Given the description of an element on the screen output the (x, y) to click on. 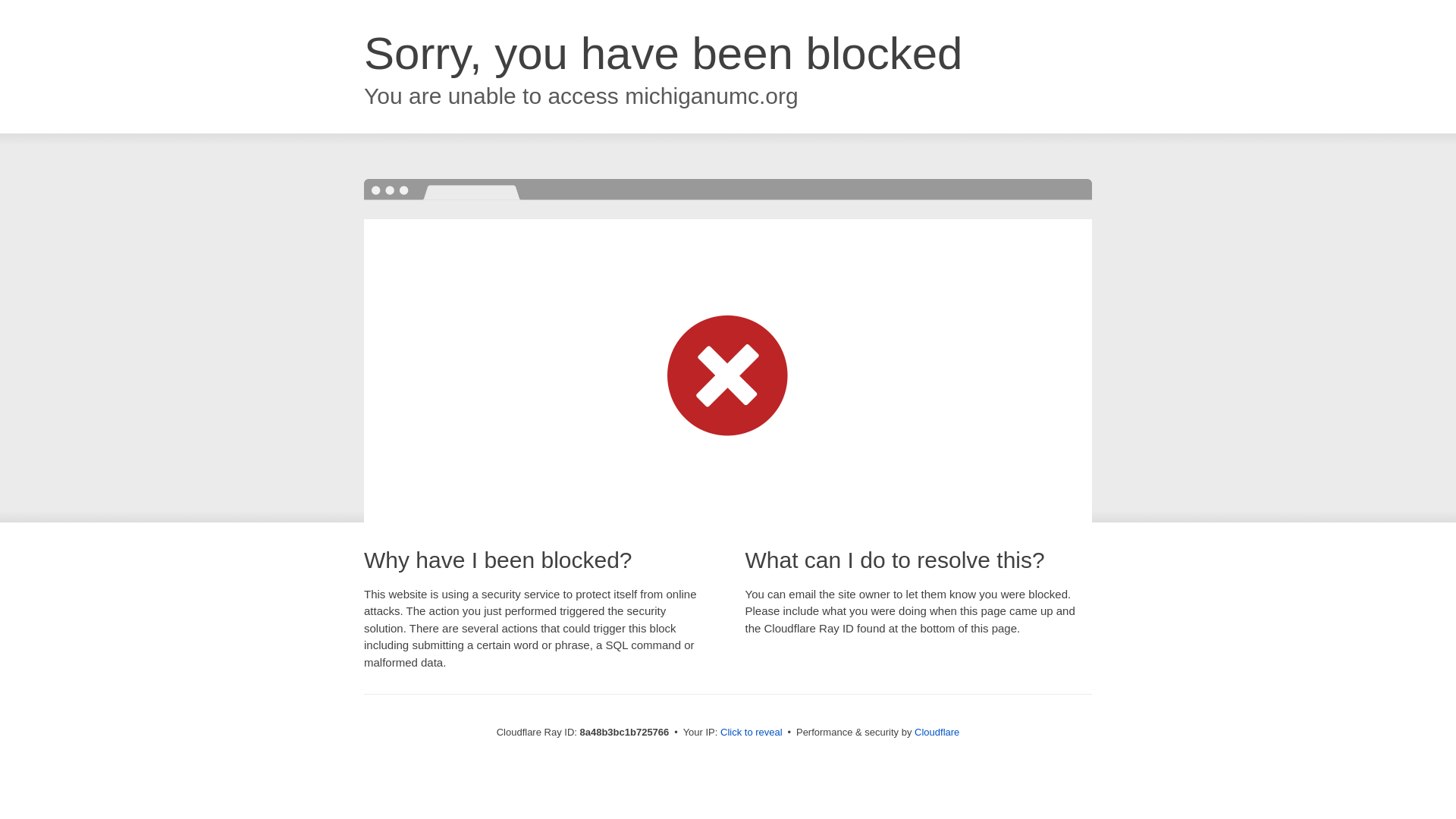
Cloudflare (936, 731)
Click to reveal (751, 732)
